Given the description of an element on the screen output the (x, y) to click on. 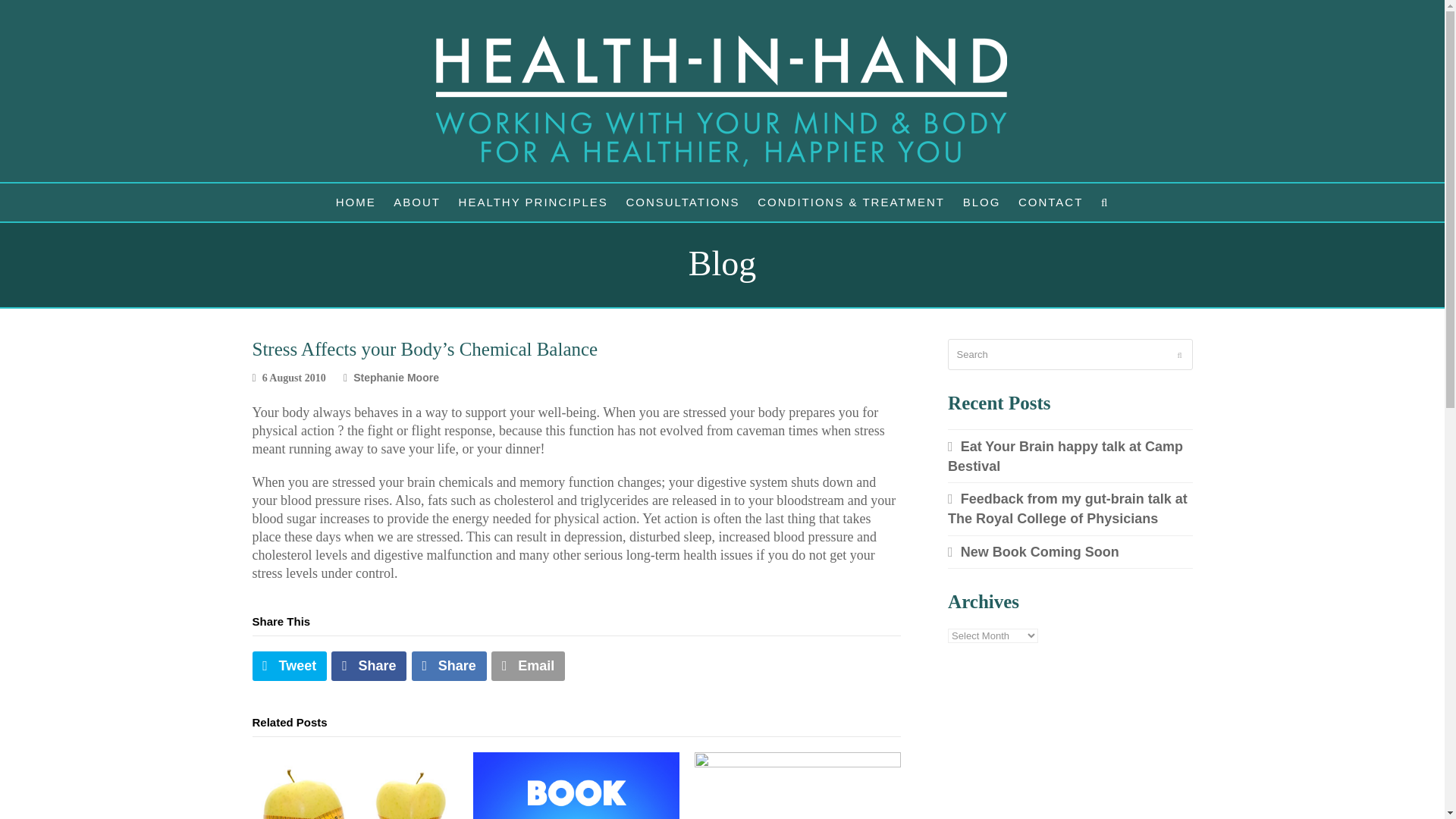
CONTACT (1050, 202)
BLOG (982, 202)
Email (528, 666)
HEALTHY PRINCIPLES (533, 202)
Posts by Stephanie Moore (396, 377)
CONSULTATIONS (681, 202)
Yay! My book is out this Thursday (576, 785)
ABOUT (416, 202)
HOME (356, 202)
